Given the description of an element on the screen output the (x, y) to click on. 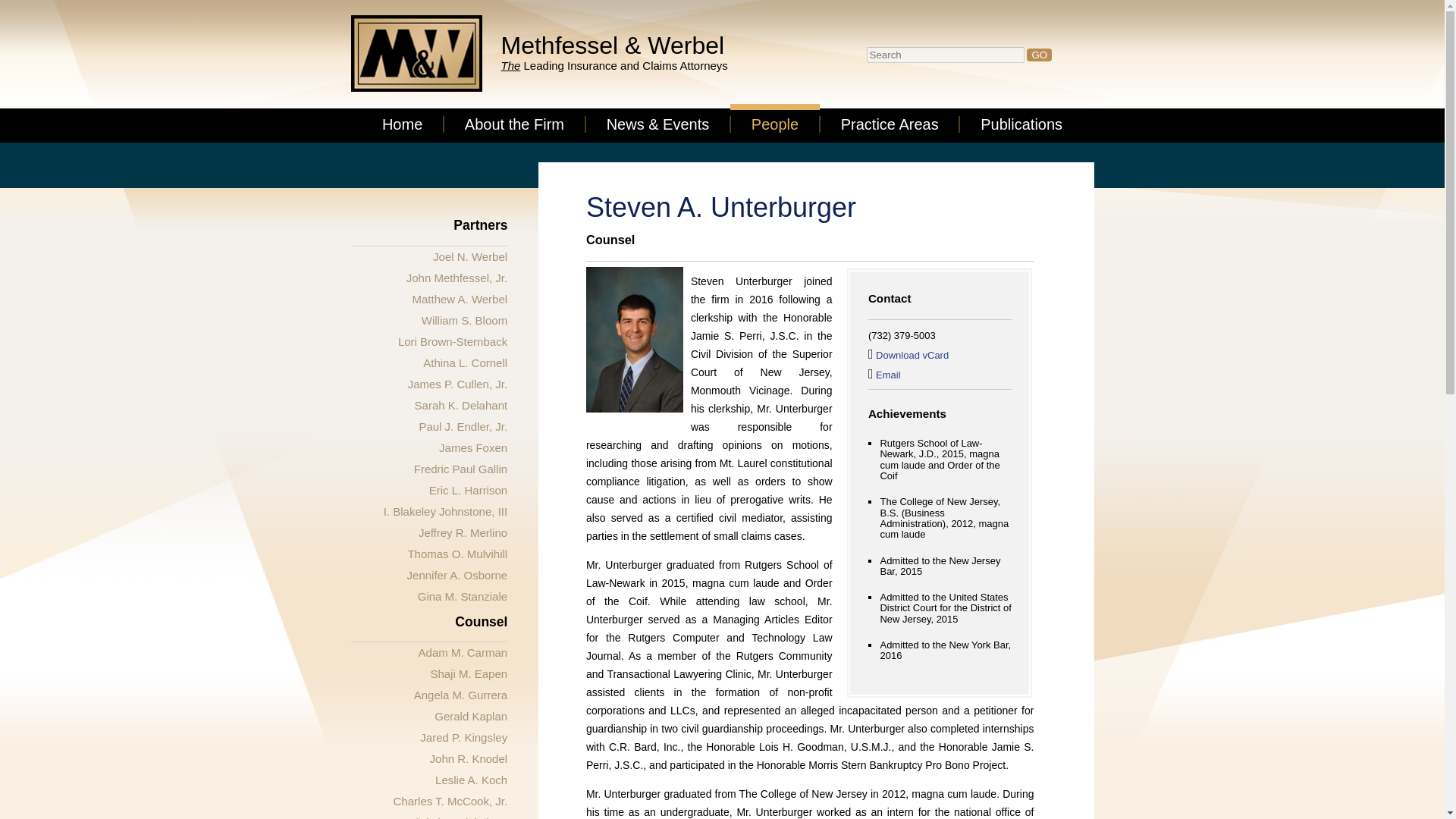
Lori Brown-Sternback (451, 341)
GO (1038, 54)
Christina Michelson (456, 817)
GO (1038, 54)
Jeffrey R. Merlino (462, 532)
Gerald Kaplan (469, 716)
Publications (1020, 124)
Sarah K. Delahant (461, 404)
Adam M. Carman (463, 652)
Shaji M. Eapen (467, 673)
Eric L. Harrison (467, 490)
Thomas O. Mulvihill (456, 553)
I. Blakeley Johnstone, III (445, 511)
John R. Knodel (468, 758)
Home (402, 124)
